Given the description of an element on the screen output the (x, y) to click on. 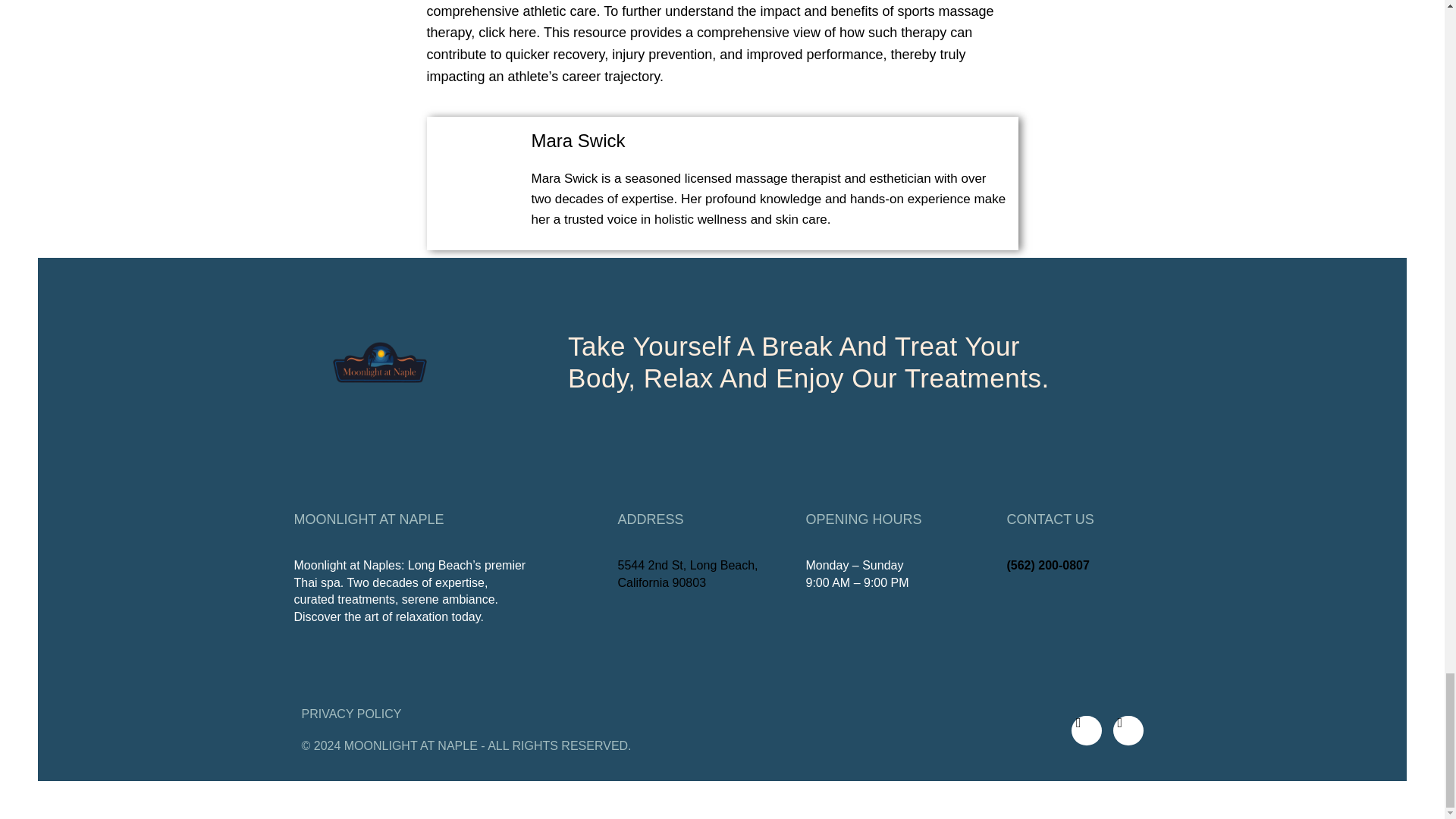
PRIVACY POLICY (351, 713)
5544 2nd St, Long Beach, California 90803 (687, 573)
click here (507, 32)
